Given the description of an element on the screen output the (x, y) to click on. 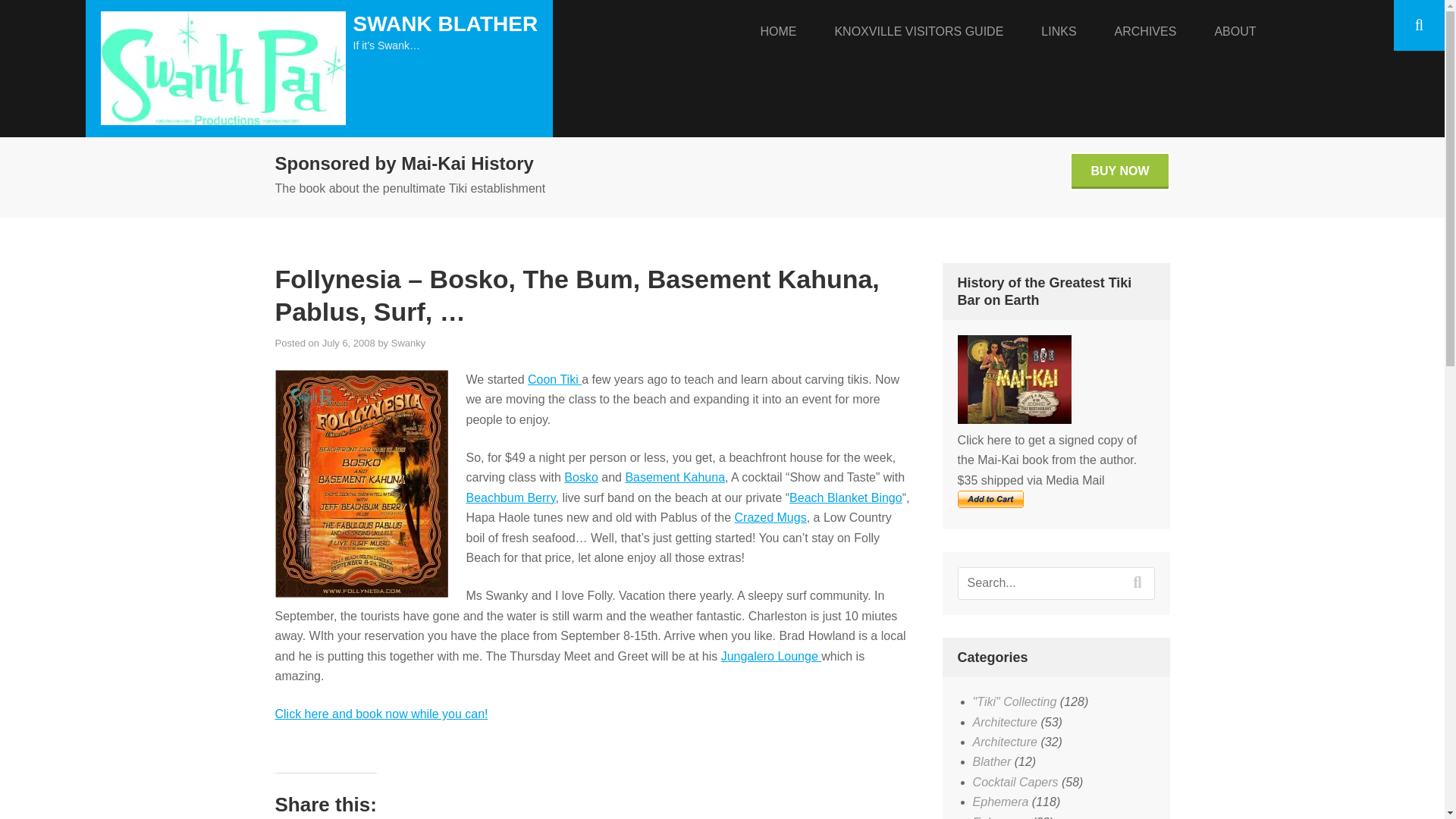
Bosko (580, 477)
July 6, 2008 (348, 342)
Beachbum Berry (509, 497)
Beach Blanket Bingo (845, 497)
Follyneis (381, 713)
Beachbum Berry (509, 497)
Swanky (408, 342)
KNOXVILLE VISITORS GUIDE (918, 33)
SWANK BLATHER (445, 24)
Search for: (1056, 582)
ABOUT (1234, 33)
Jungalero Lounge (771, 656)
Crazed Mugs (770, 517)
Beach Blanket Bingo (845, 497)
ARCHIVES (1145, 33)
